Given the description of an element on the screen output the (x, y) to click on. 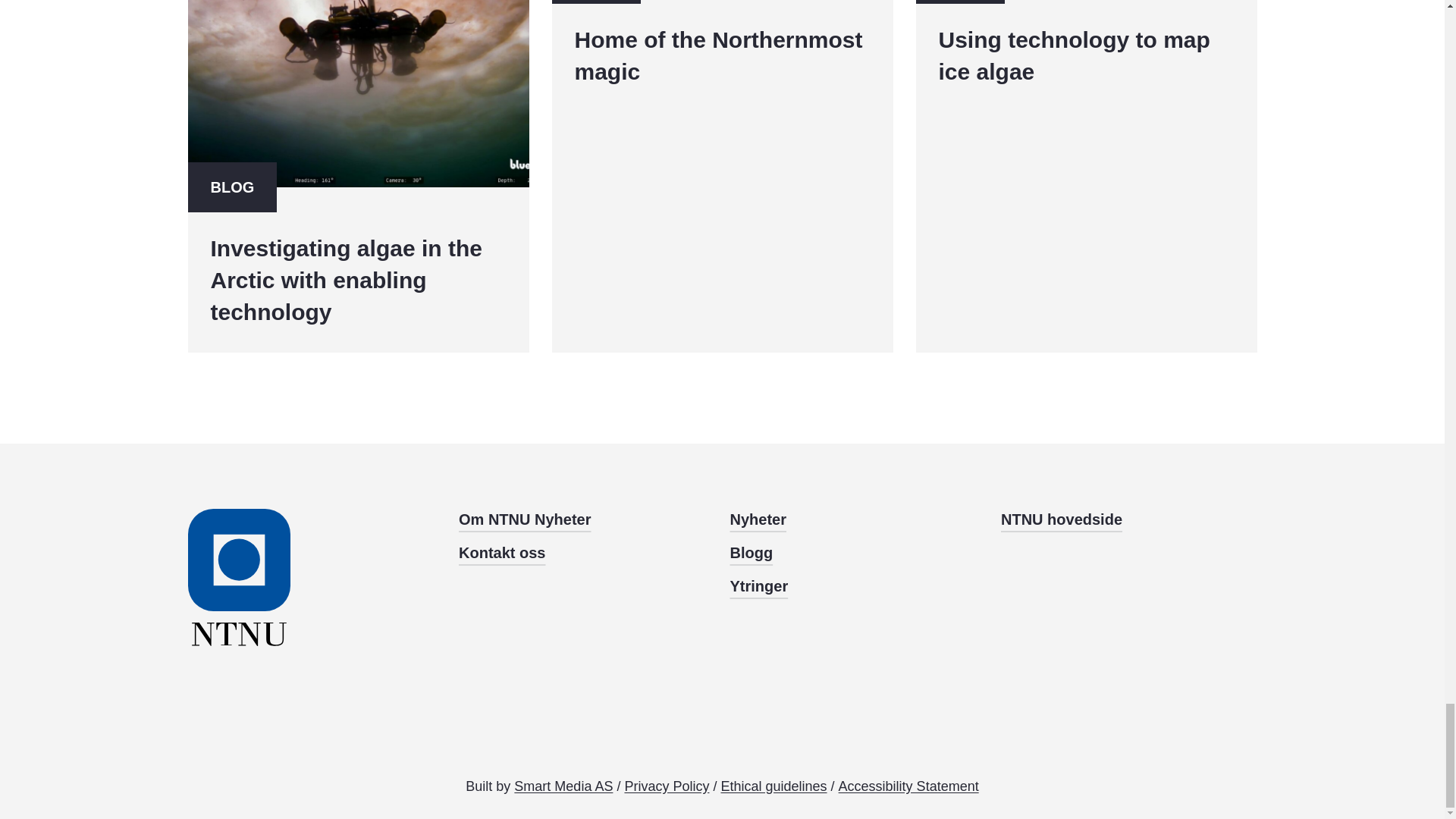
Smart Media AS (562, 785)
NTNU hovedside (1129, 518)
Om NTNU Nyheter (586, 518)
Ytringer (722, 176)
Blogg (857, 586)
Kontakt oss (857, 552)
Nyheter (1086, 176)
